Given the description of an element on the screen output the (x, y) to click on. 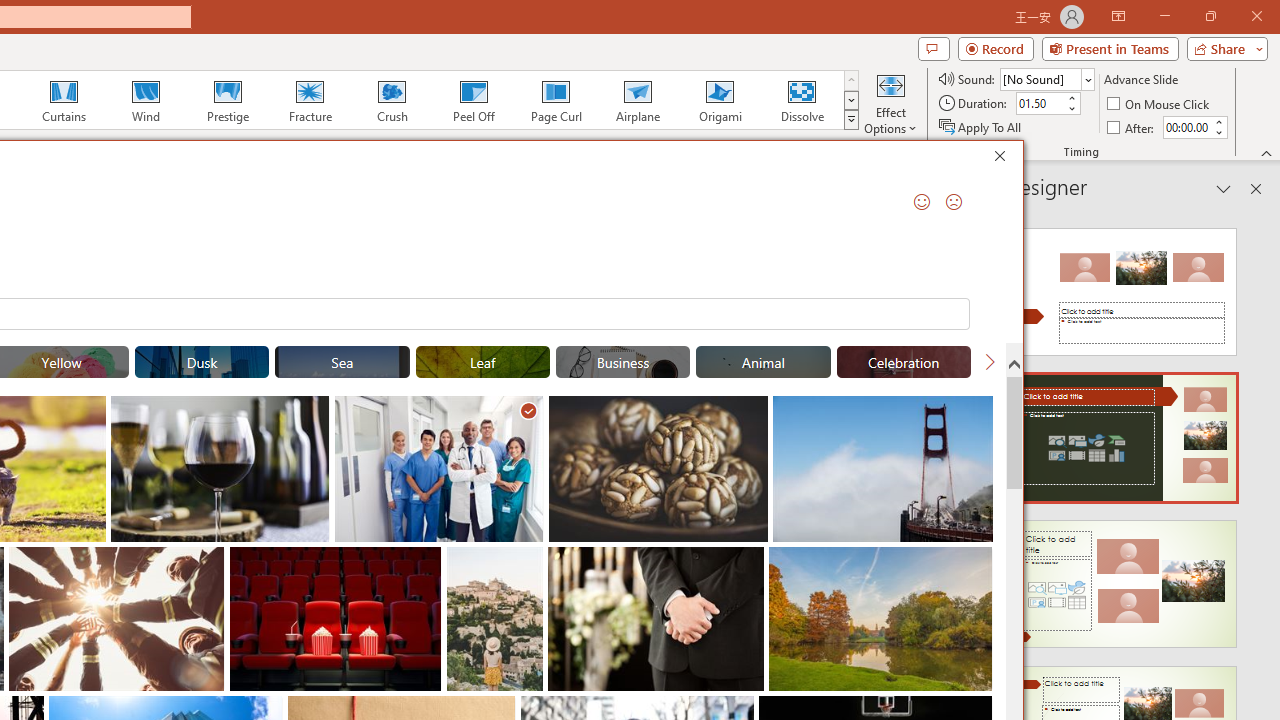
Duration (1039, 103)
Class: NetUIImage (851, 119)
Close pane (1256, 188)
Share (1223, 48)
After (1131, 126)
Collapse the Ribbon (1267, 152)
"Leaf" Stock Images. (483, 362)
Airplane (637, 100)
Origami (719, 100)
More (1218, 121)
Apply To All (981, 126)
Minimize (1164, 16)
Present in Teams (1109, 48)
